Given the description of an element on the screen output the (x, y) to click on. 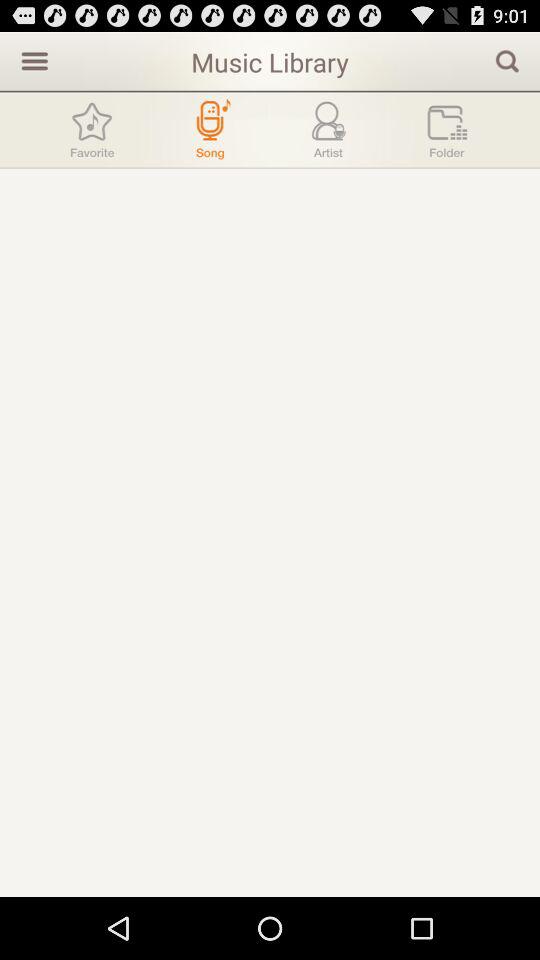
press item below the music library icon (210, 129)
